Given the description of an element on the screen output the (x, y) to click on. 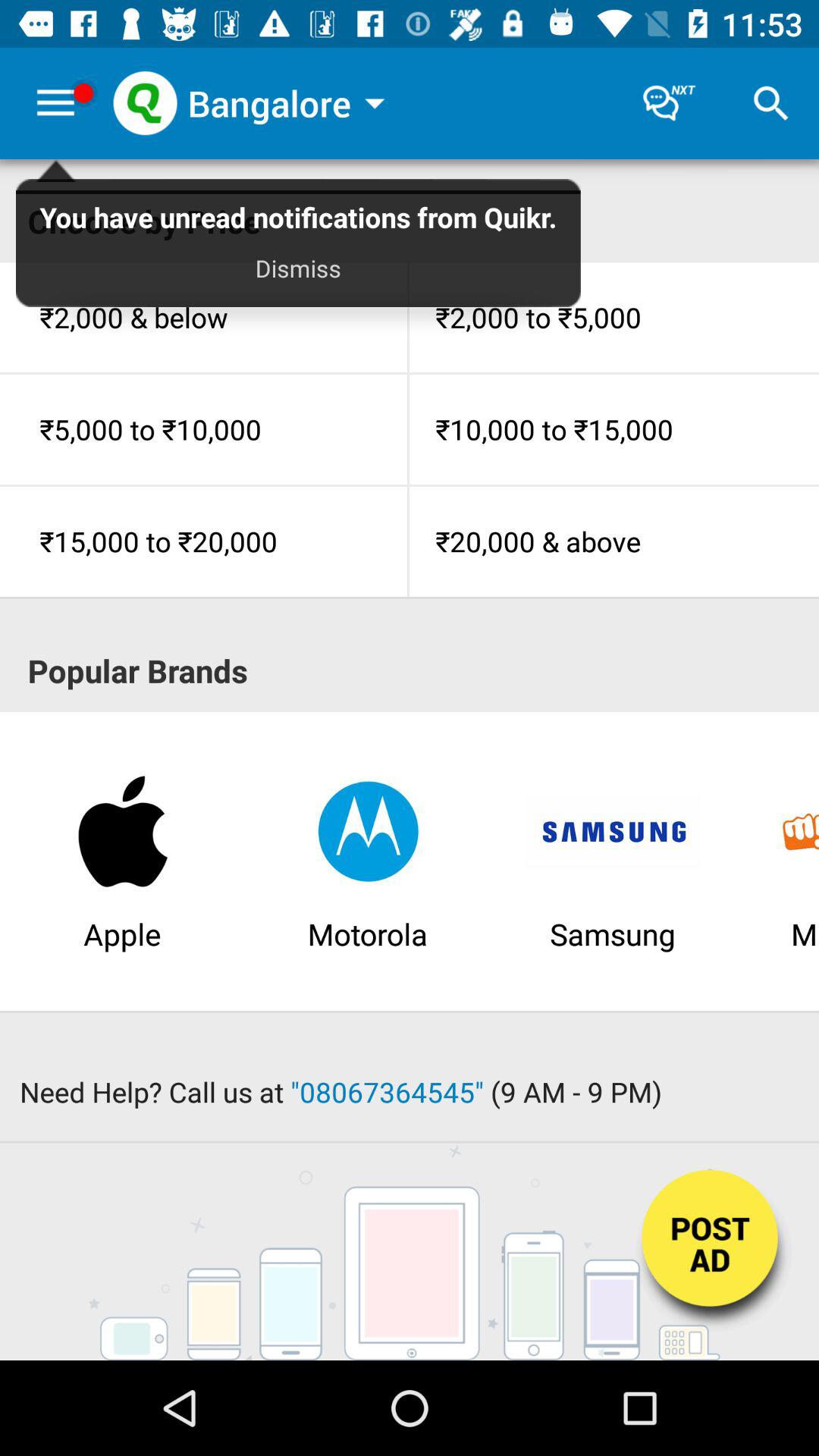
select the text which is immediately above 20000  above (614, 429)
click on post ad (711, 1252)
click on black notification box which has dismiss option (297, 249)
click on the logo which is above the text samsung (612, 831)
select quikr icon which is at the top of the page (145, 102)
